Given the description of an element on the screen output the (x, y) to click on. 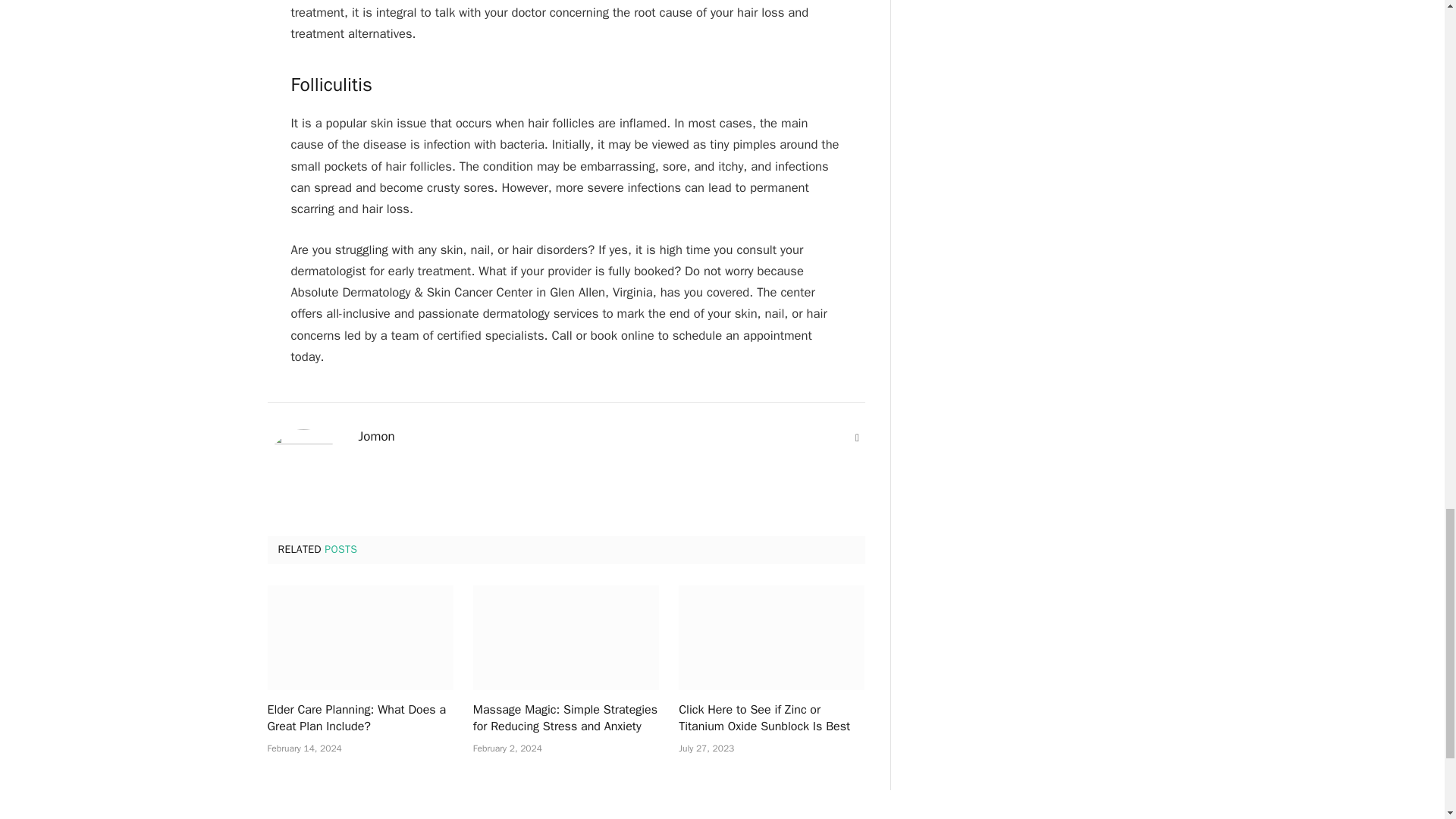
Elder Care Planning: What Does a Great Plan Include? (359, 718)
Elder Care Planning: What Does a Great Plan Include? (359, 637)
Click Here to See if Zinc or Titanium Oxide Sunblock Is Best (771, 637)
Website (856, 437)
Posts by Jomon (376, 436)
Jomon (376, 436)
Website (856, 437)
Click Here to See if Zinc or Titanium Oxide Sunblock Is Best (771, 718)
